Given the description of an element on the screen output the (x, y) to click on. 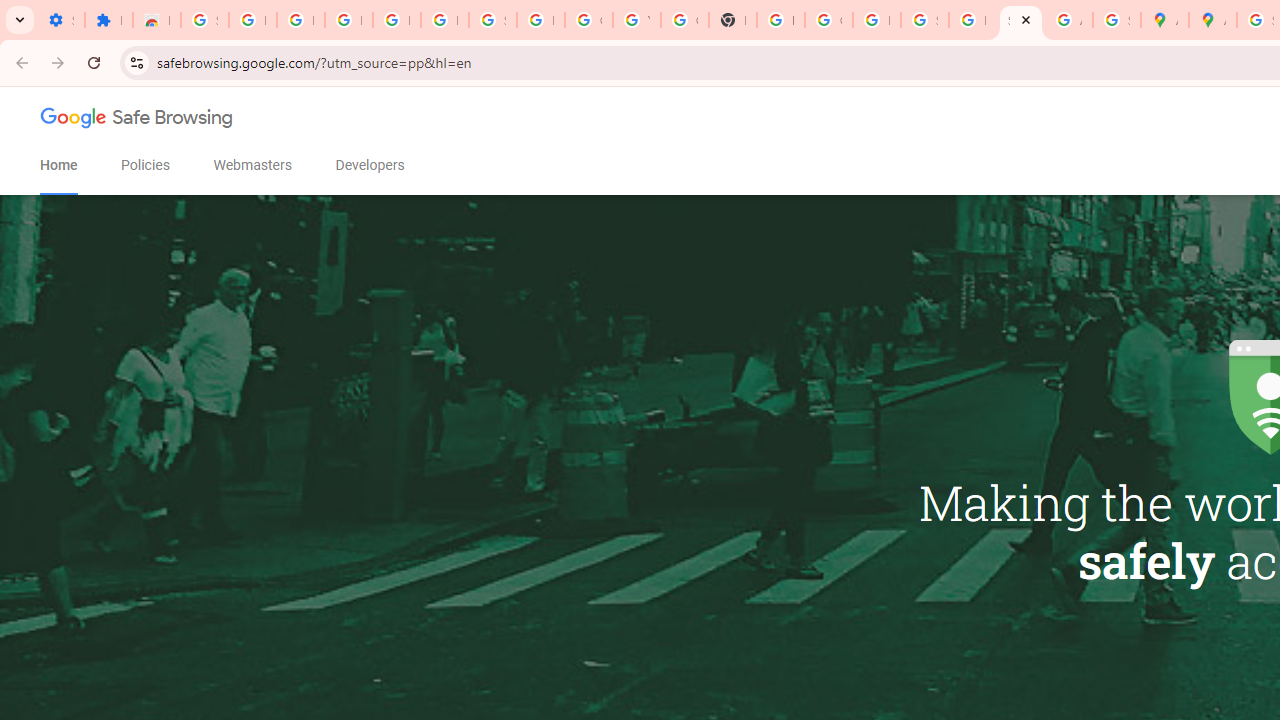
Developers (369, 165)
Delete photos & videos - Computer - Google Photos Help (348, 20)
https://scholar.google.com/ (780, 20)
Learn how to find your photos - Google Photos Help (396, 20)
Safety in Our Products - Google Safety Center (1116, 20)
Sign in - Google Accounts (492, 20)
Settings - On startup (60, 20)
New Tab (732, 20)
Policies (145, 165)
Google Safe Browsing (137, 121)
